Given the description of an element on the screen output the (x, y) to click on. 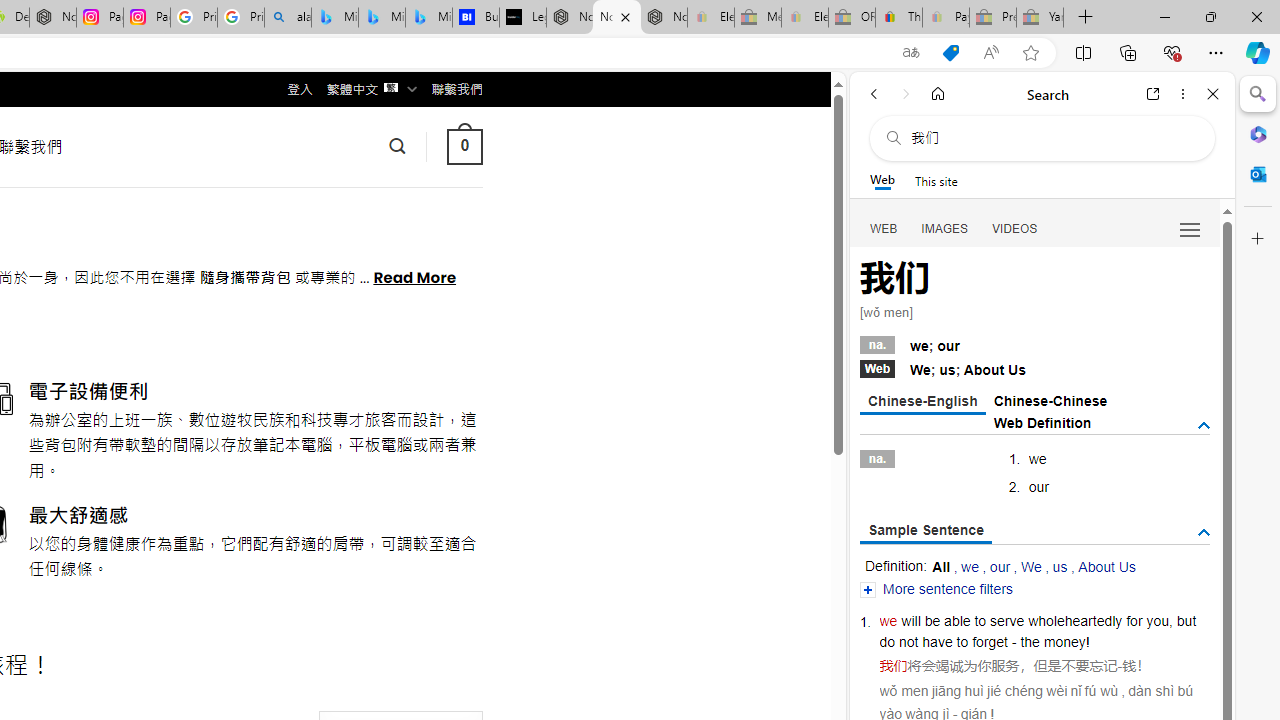
Microsoft Bing Travel - Flights from Hong Kong to Bangkok (335, 17)
forget (989, 642)
AutomationID: tgdef_sen (1203, 533)
Class: b_serphb (1190, 229)
we (888, 620)
Threats and offensive language policy | eBay (898, 17)
Search Filter, VIDEOS (1015, 228)
na.we; our (1034, 343)
